Given the description of an element on the screen output the (x, y) to click on. 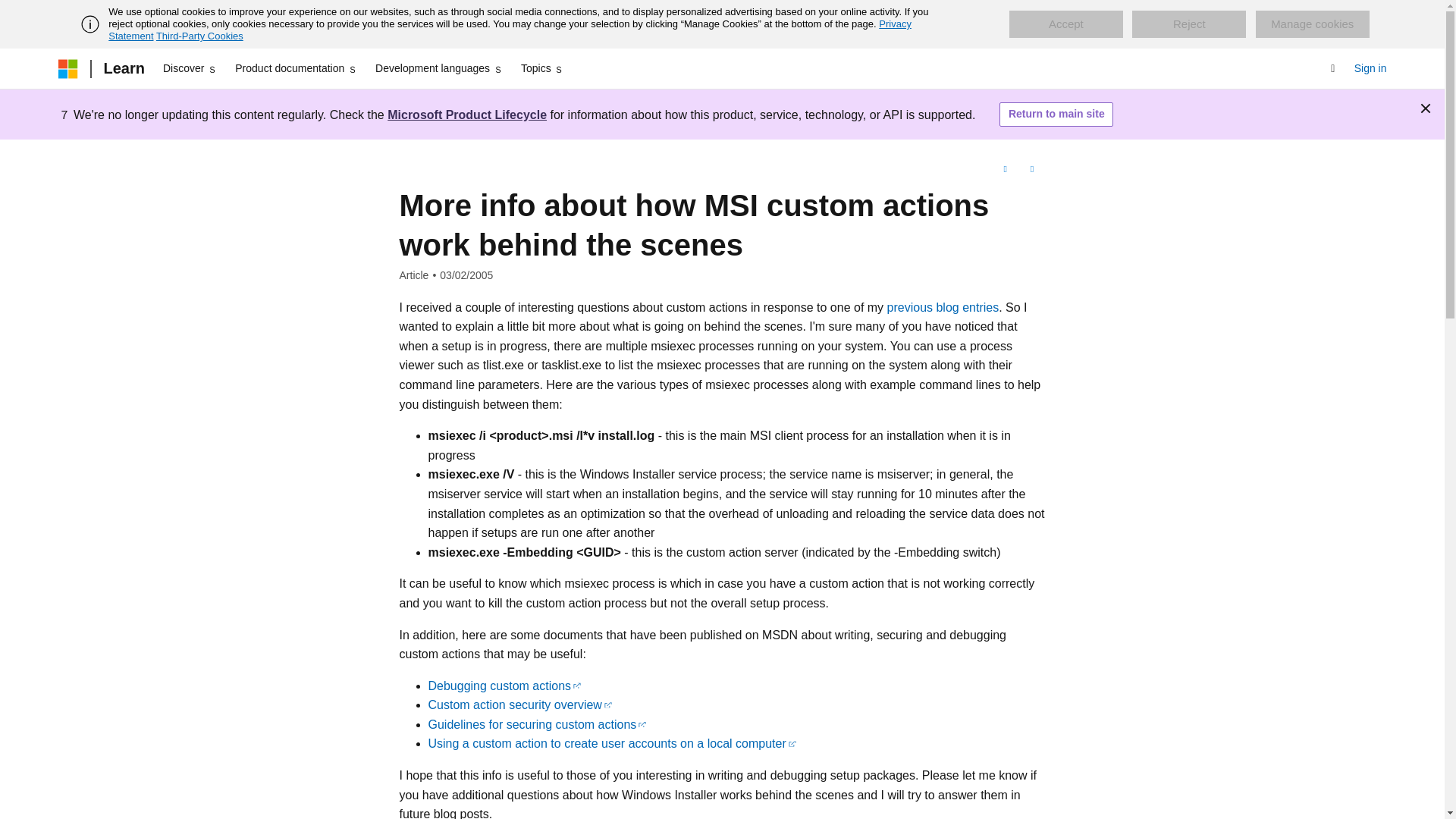
Product documentation (295, 68)
Microsoft Product Lifecycle (467, 114)
More actions (1031, 169)
Accept (1065, 23)
Discover (189, 68)
Learn (123, 68)
Topics (542, 68)
Third-Party Cookies (199, 35)
Skip to main content (11, 11)
Return to main site (1055, 114)
Sign in (1370, 68)
Dismiss alert (1425, 108)
Reject (1189, 23)
Privacy Statement (509, 29)
Development languages (438, 68)
